Given the description of an element on the screen output the (x, y) to click on. 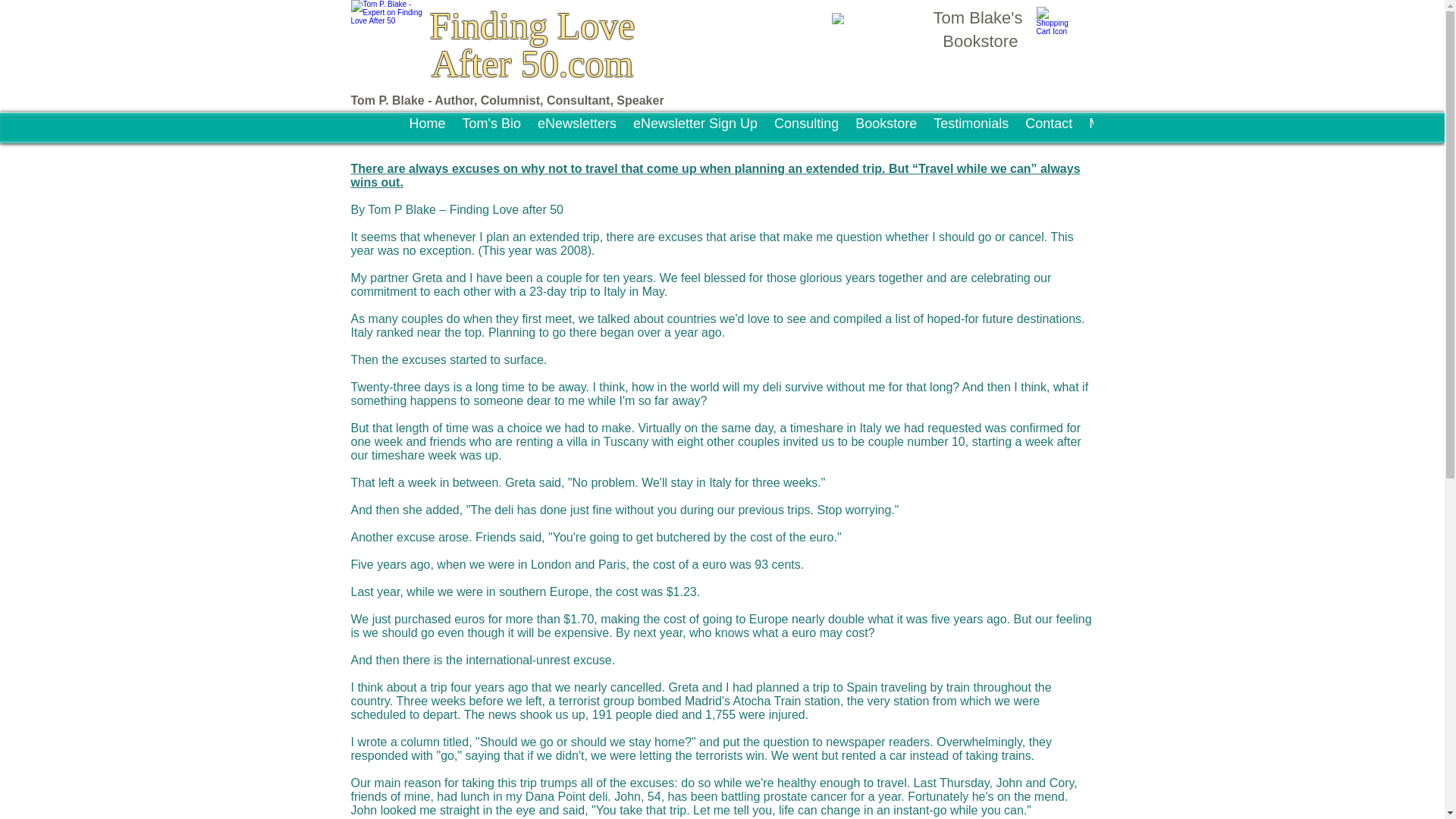
After 50.com (531, 63)
Tom Blake's Bookstore  (978, 29)
Tom's Bio (491, 128)
Testimonials (970, 128)
Finding Love (531, 25)
eNewsletters (576, 128)
eNewsletter Sign Up (694, 128)
Bookstore (885, 128)
Consulting (806, 128)
Contact (1048, 128)
